Given the description of an element on the screen output the (x, y) to click on. 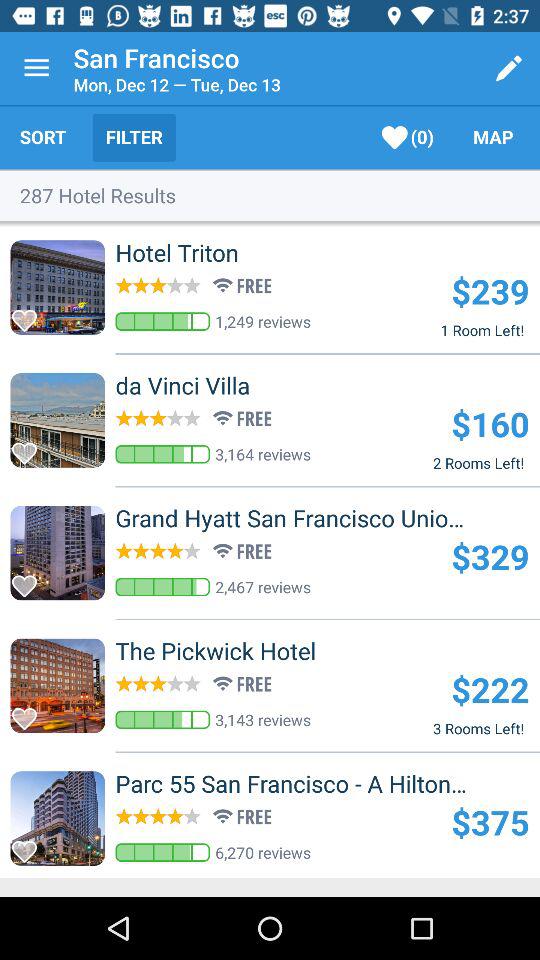
flip until 1,249 reviews (263, 321)
